Given the description of an element on the screen output the (x, y) to click on. 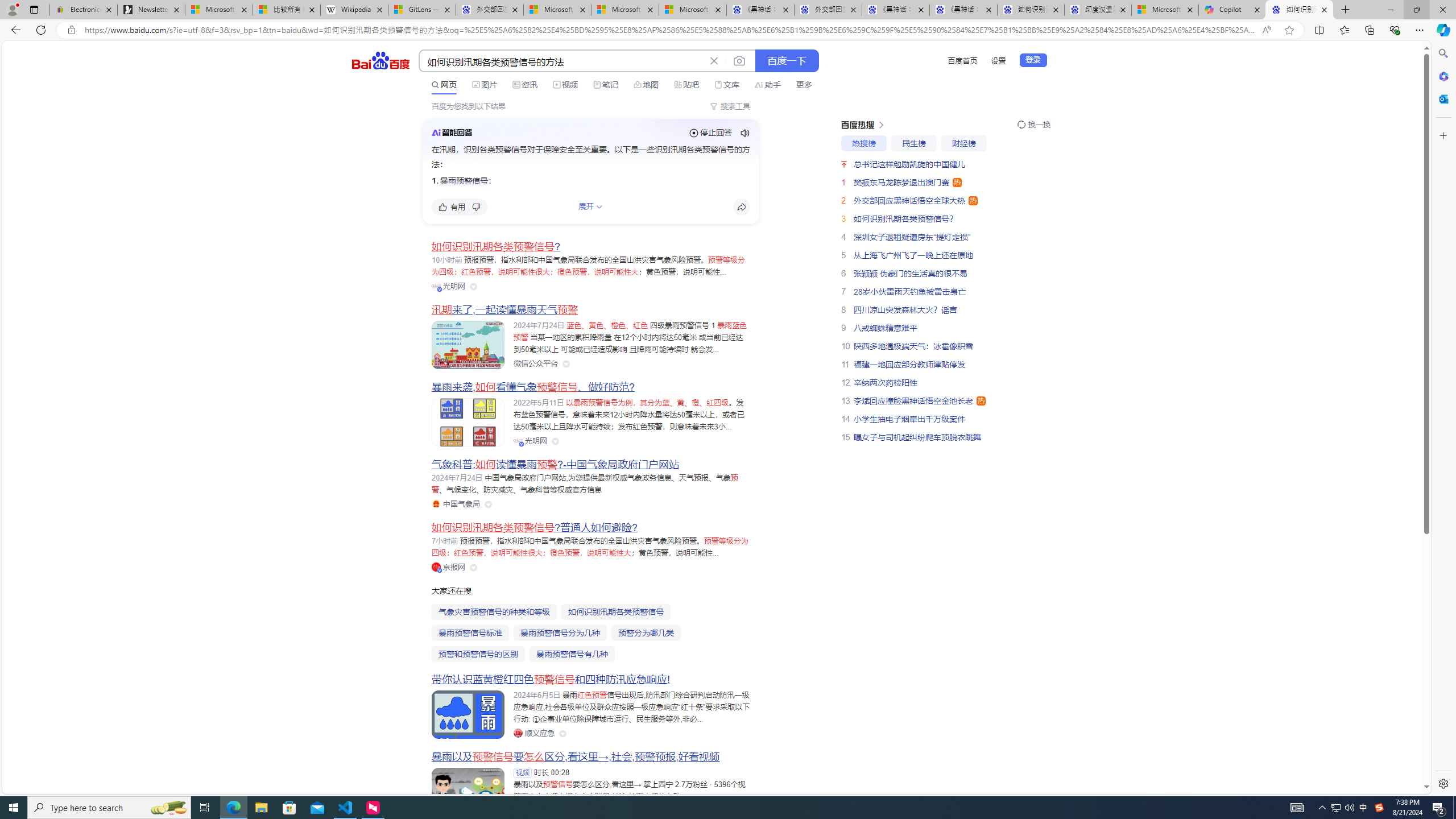
Settings (1442, 783)
Class: img-light_7jMUg (450, 131)
Copilot (1232, 9)
Favorites (1344, 29)
Refresh (40, 29)
